Given the description of an element on the screen output the (x, y) to click on. 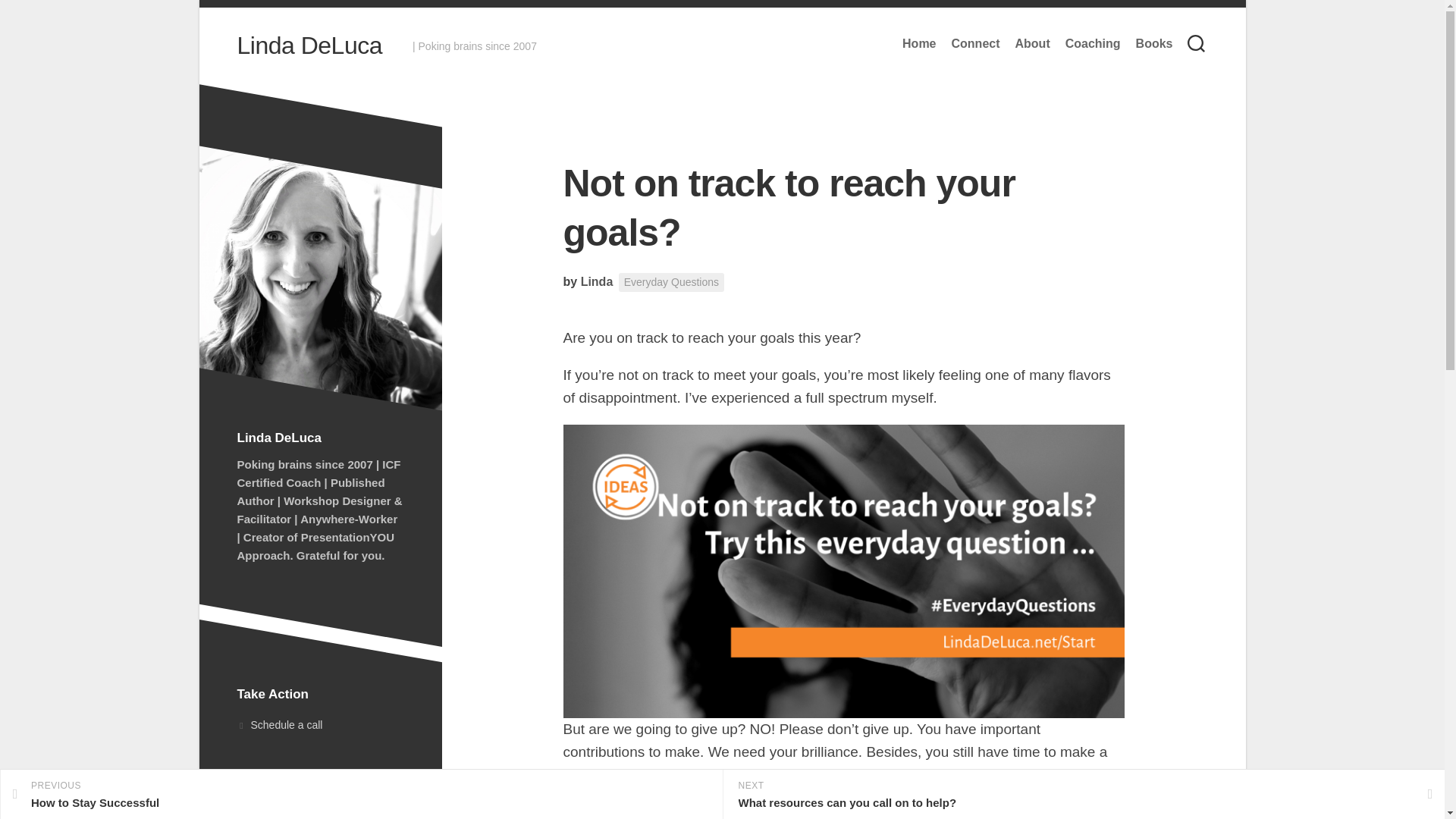
Linda DeLuca (308, 44)
Coaching (1093, 43)
Connect (974, 43)
Posts by Linda (596, 281)
Linda (361, 794)
Everyday Questions (596, 281)
Home (670, 281)
About (919, 43)
Books (1031, 43)
Schedule a call (1154, 43)
